Given the description of an element on the screen output the (x, y) to click on. 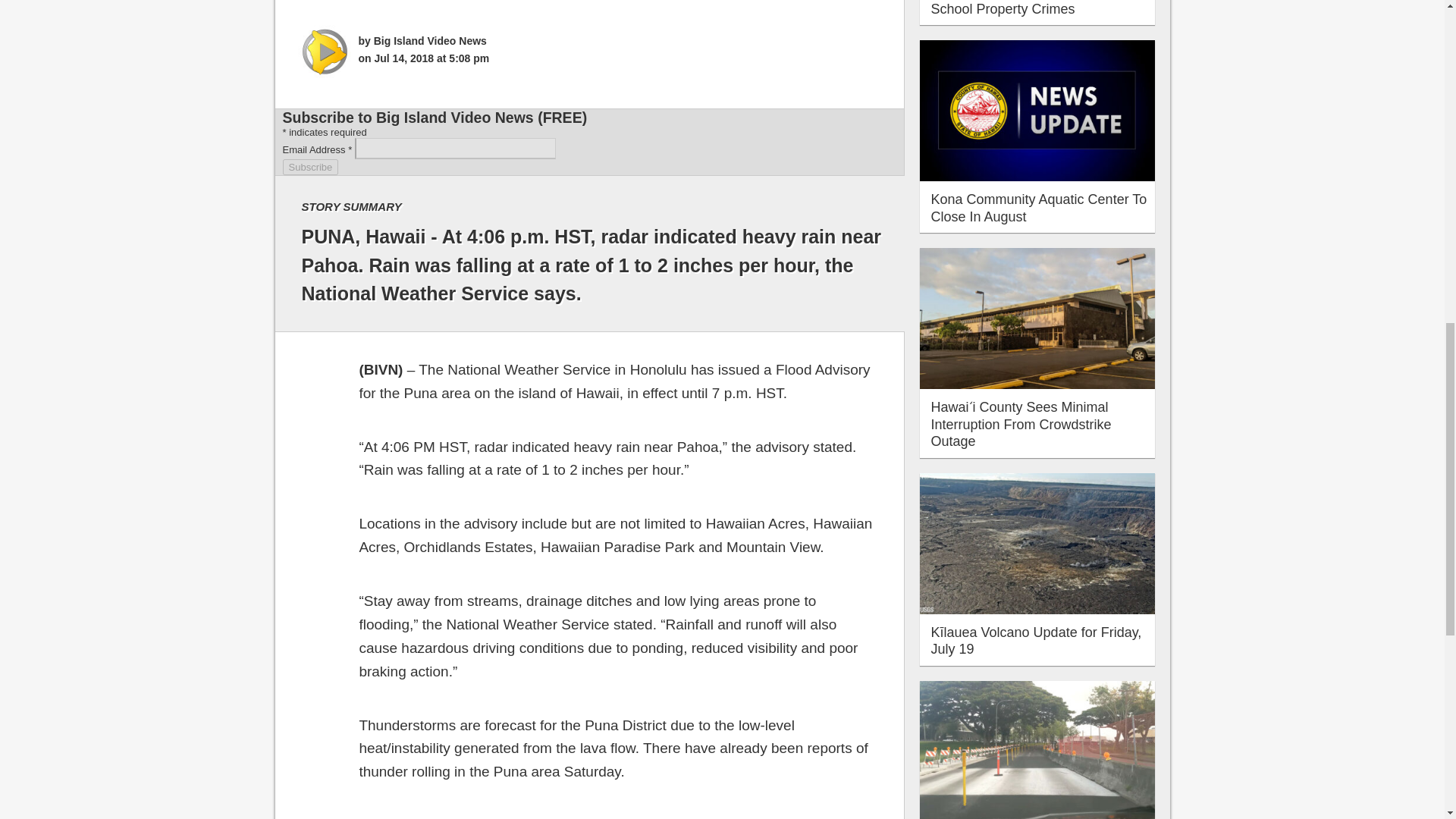
Kona Community Aquatic Center To Close In August (1039, 207)
Subscribe (309, 166)
Subscribe (309, 166)
Hilo Juvenile Charged For Waiakea School Property Crimes (1037, 8)
